Given the description of an element on the screen output the (x, y) to click on. 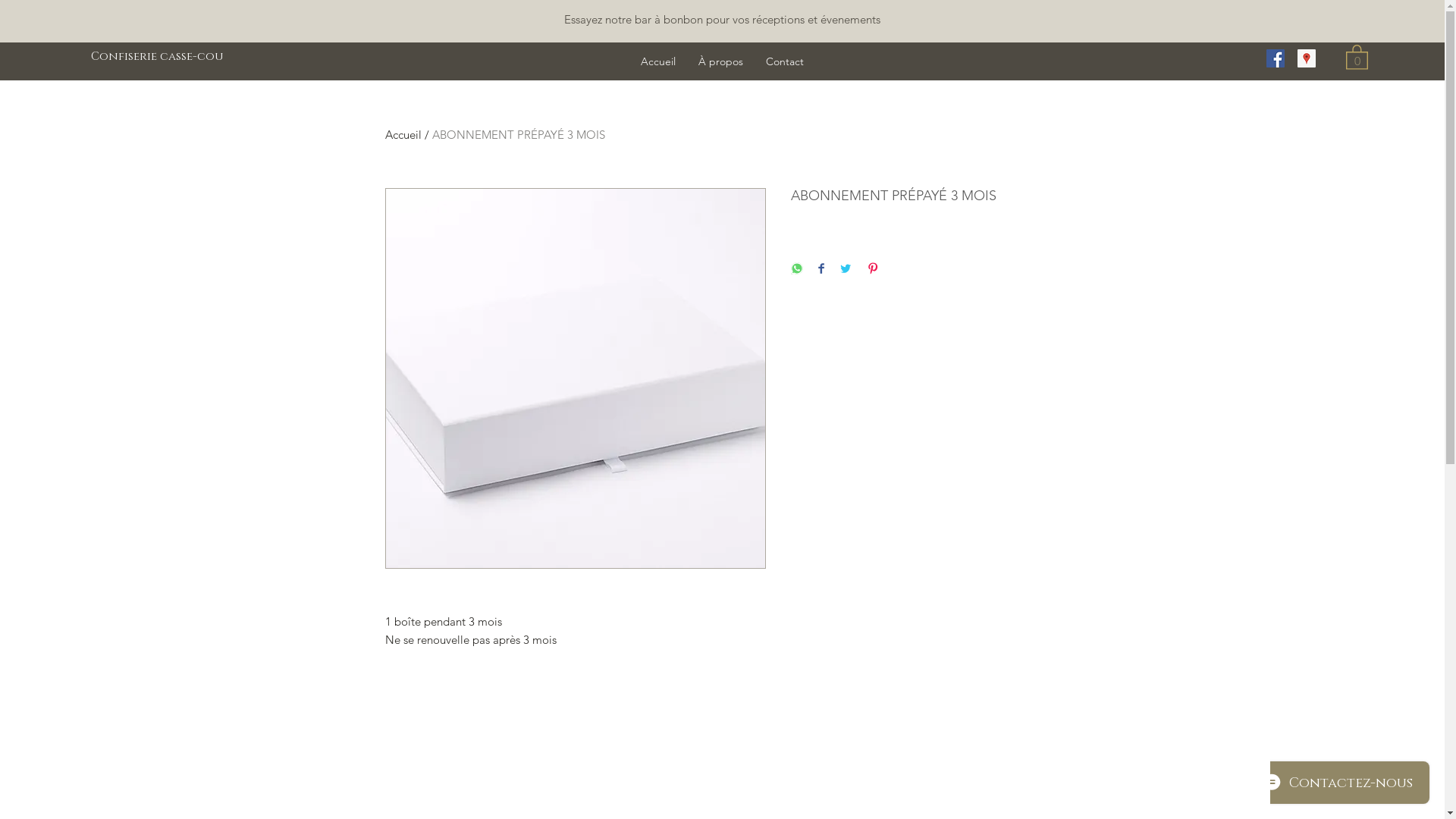
Contact Element type: text (784, 61)
Accueil Element type: text (403, 134)
0 Element type: text (1357, 56)
Confiserie casse-cou Element type: text (165, 55)
Accueil Element type: text (658, 61)
